Given the description of an element on the screen output the (x, y) to click on. 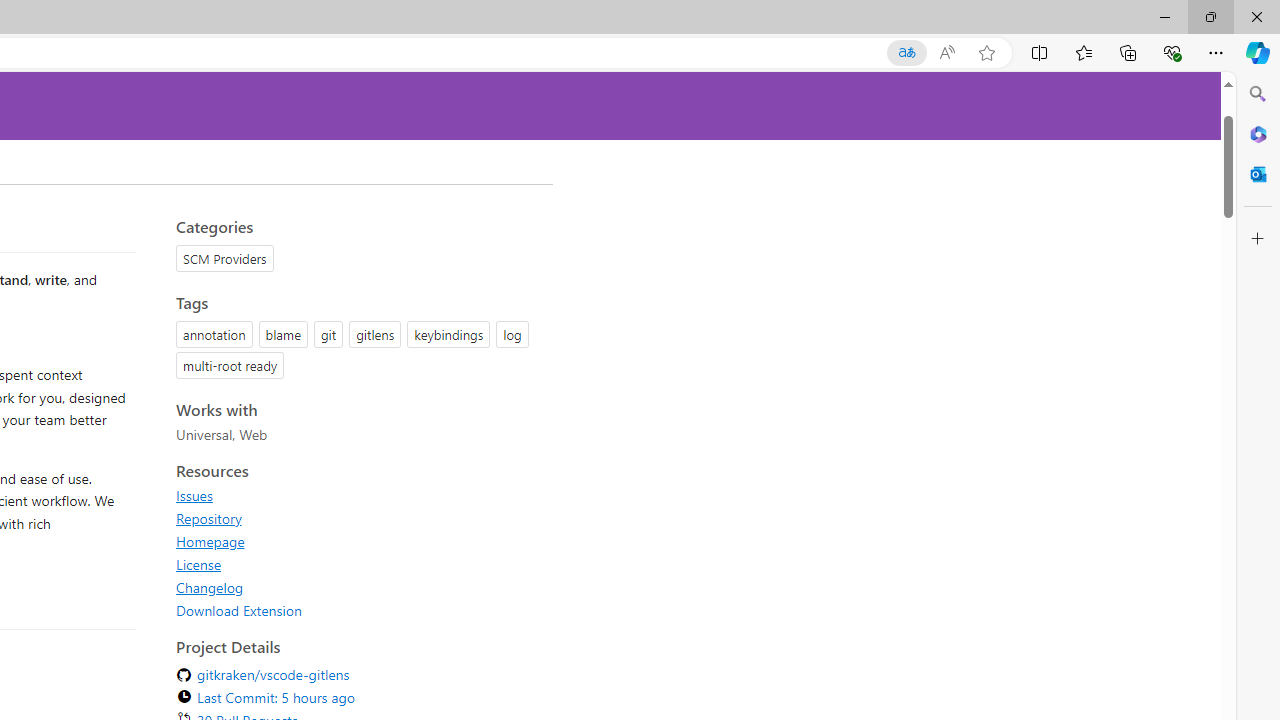
Split screen (1039, 52)
Minimize (1164, 16)
Download Extension (358, 610)
License (358, 564)
Favorites (1083, 52)
Repository (358, 518)
Microsoft 365 (1258, 133)
Download Extension (239, 610)
Homepage (358, 541)
Search (1258, 94)
Outlook (1258, 174)
Changelog (210, 587)
